Given the description of an element on the screen output the (x, y) to click on. 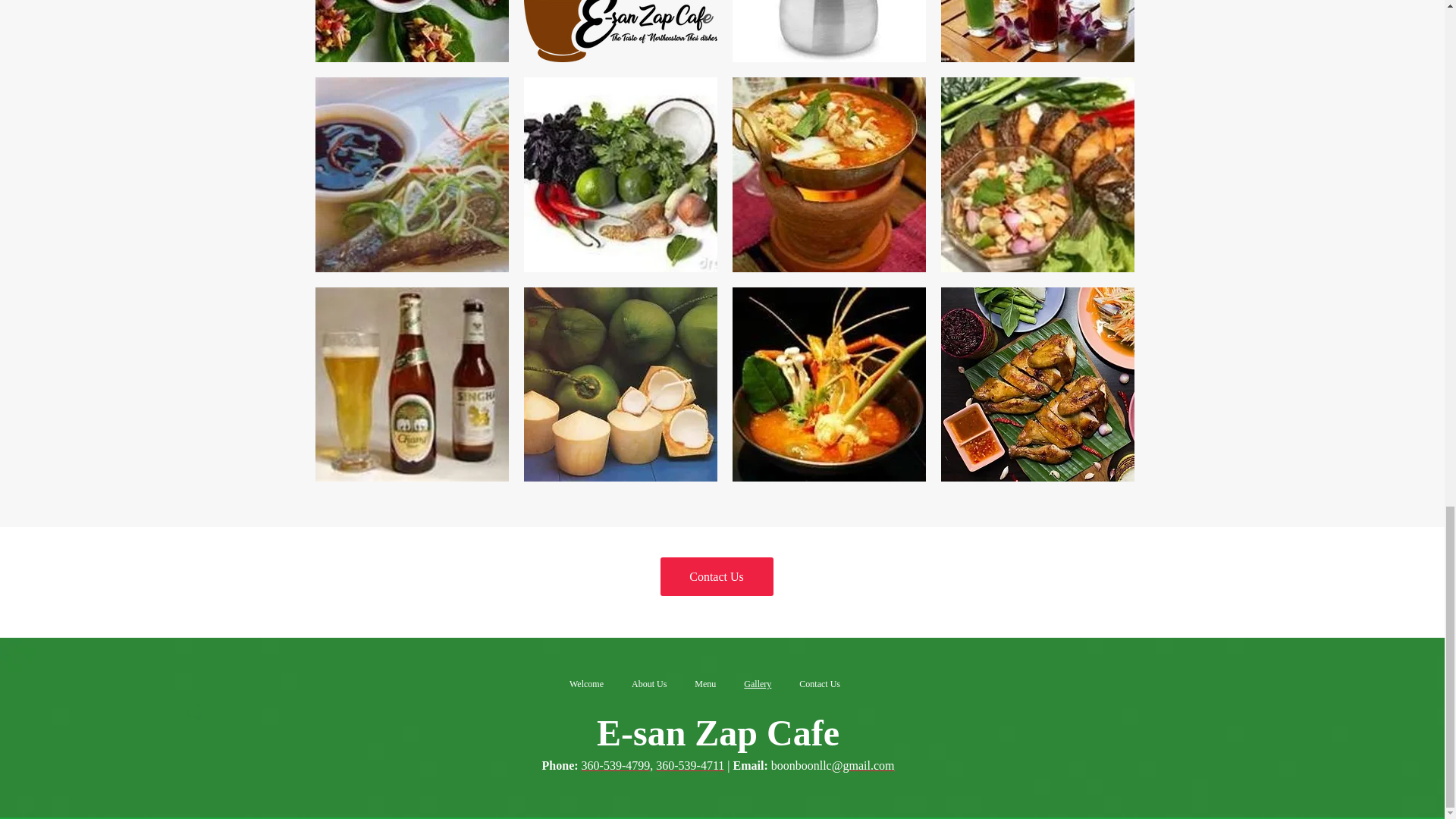
Welcome (585, 683)
360-539-4711 (689, 766)
Contact Us (716, 576)
About Us (649, 683)
Contact Us (820, 683)
Menu (705, 683)
Gallery (758, 683)
360-539-4799 (615, 766)
